Given the description of an element on the screen output the (x, y) to click on. 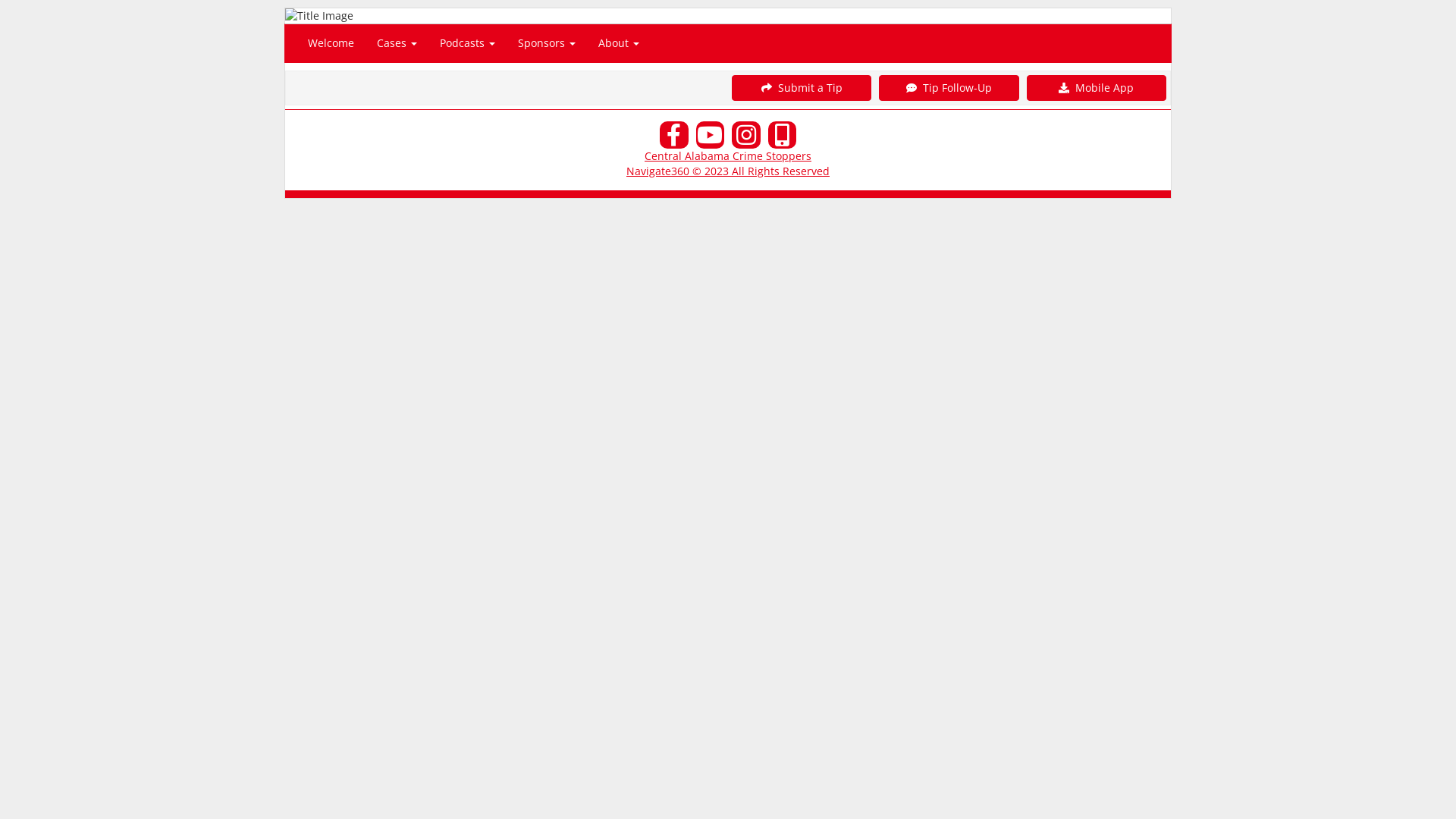
 Tip Follow-Up Element type: text (948, 87)
Central Alabama Crime Stoppers Element type: text (727, 155)
Our Mobile App Element type: hover (781, 134)
 Mobile App Element type: text (1096, 87)
Podcasts Element type: text (467, 43)
Cases Element type: text (396, 43)
 Submit a Tip Element type: text (801, 87)
About Element type: text (618, 43)
Sponsors Element type: text (546, 43)
Welcome Element type: text (330, 43)
